Given the description of an element on the screen output the (x, y) to click on. 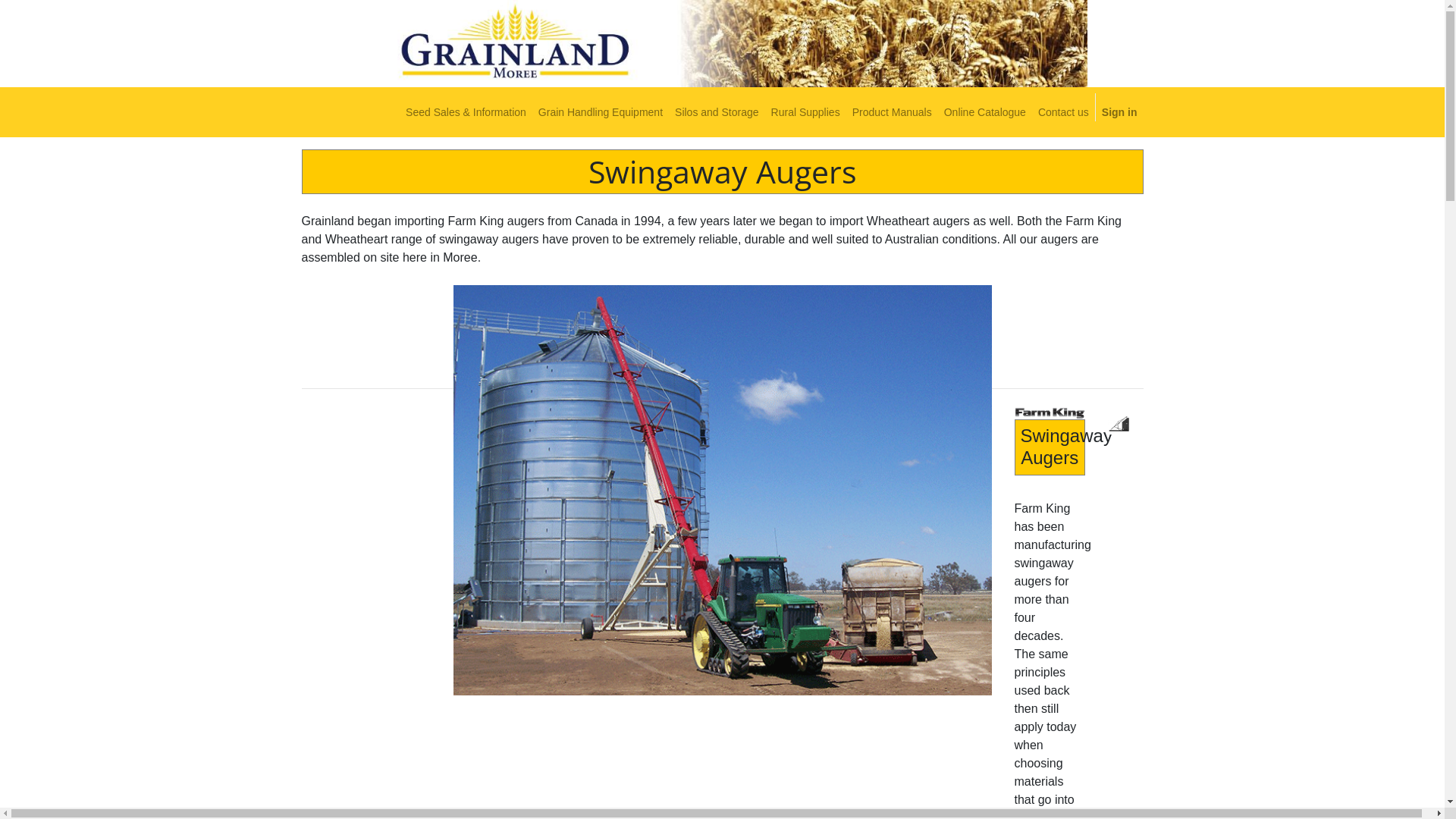
Online Catalogue Element type: text (985, 112)
Silos and Storage Element type: text (716, 112)
Rural Supplies Element type: text (805, 112)
Sign in Element type: text (1119, 112)
Grain Handling Equipment Element type: text (600, 112)
Seed Sales & Information Element type: text (465, 112)
Contact us Element type: text (1063, 112)
Product Manuals Element type: text (892, 112)
Cowra Grainland Moree Pty Ltd Element type: hover (722, 43)
